Given the description of an element on the screen output the (x, y) to click on. 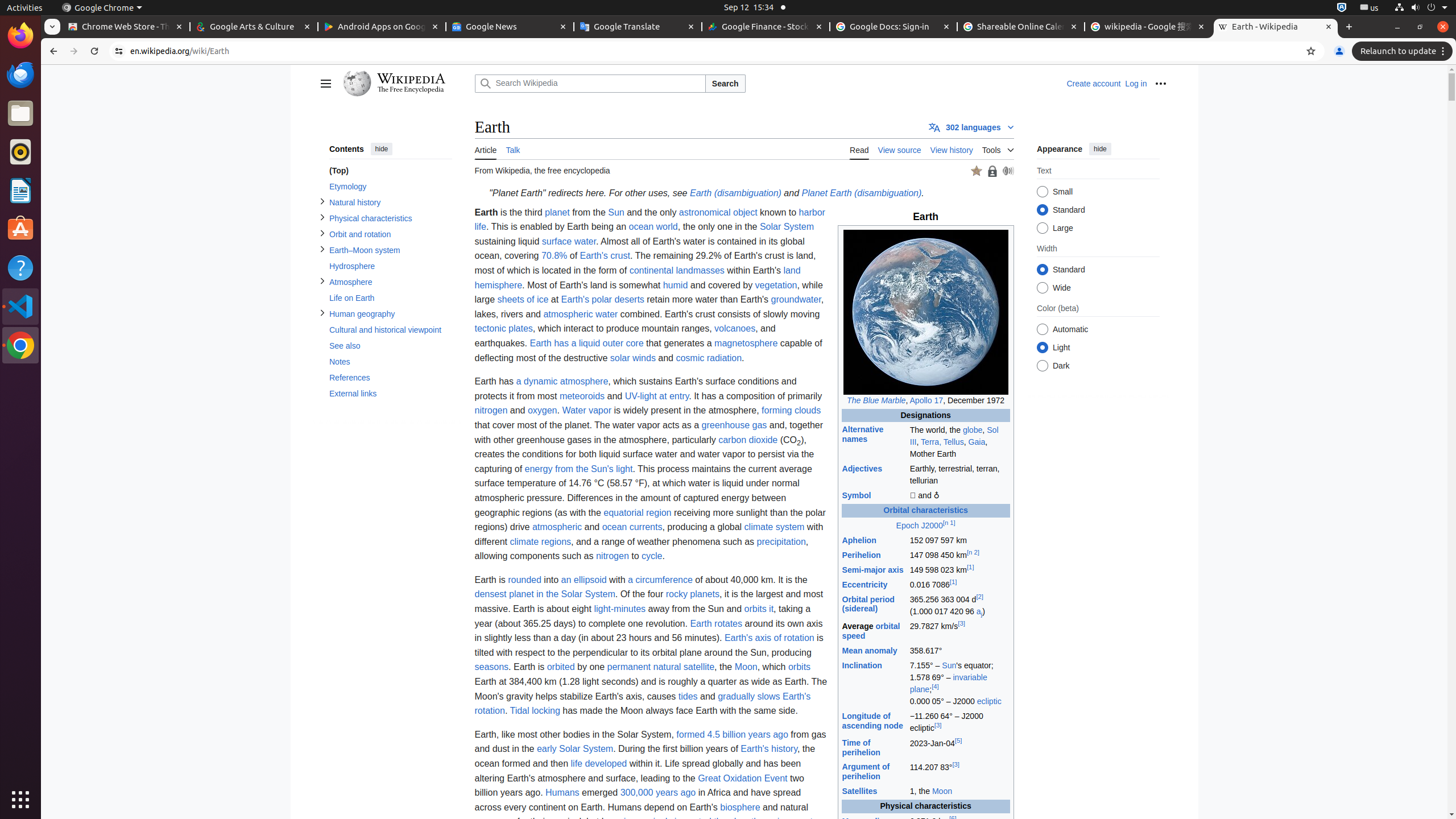
Orbit and rotation Element type: link (390, 234)
sheets of ice Element type: link (522, 299)
Help Element type: push-button (20, 267)
Photograph of Earth taken by the Apollo 17 mission. The Arabian peninsula, Africa and Madagascar lie in the upper half of the disc, whereas Antarctica is at the bottom. Element type: link (925, 311)
solar winds Element type: link (632, 357)
